Given the description of an element on the screen output the (x, y) to click on. 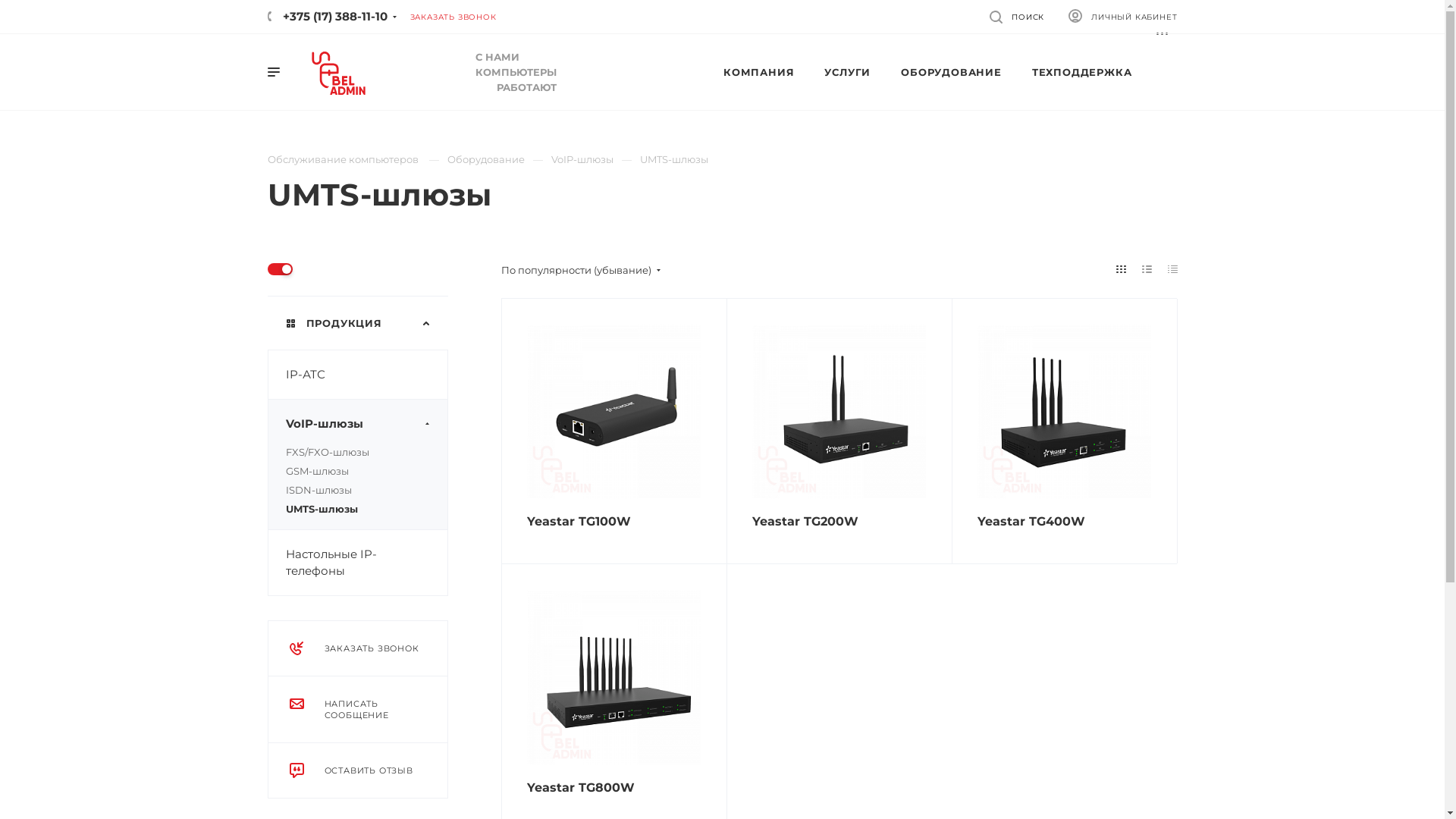
Yeastar TG400W Element type: text (1031, 521)
Yeastar TG800W Element type: text (579, 787)
Yeastar TG100W Element type: hover (612, 411)
beladmin.by Element type: hover (338, 72)
Yeastar TG200W Element type: text (805, 521)
Yeastar TG400W Element type: hover (1064, 411)
+375 (17) 388-11-10 Element type: text (326, 16)
Yeastar TG100W Element type: text (578, 521)
Yeastar TG200W Element type: hover (838, 411)
Yeastar TG800W Element type: hover (612, 676)
